Given the description of an element on the screen output the (x, y) to click on. 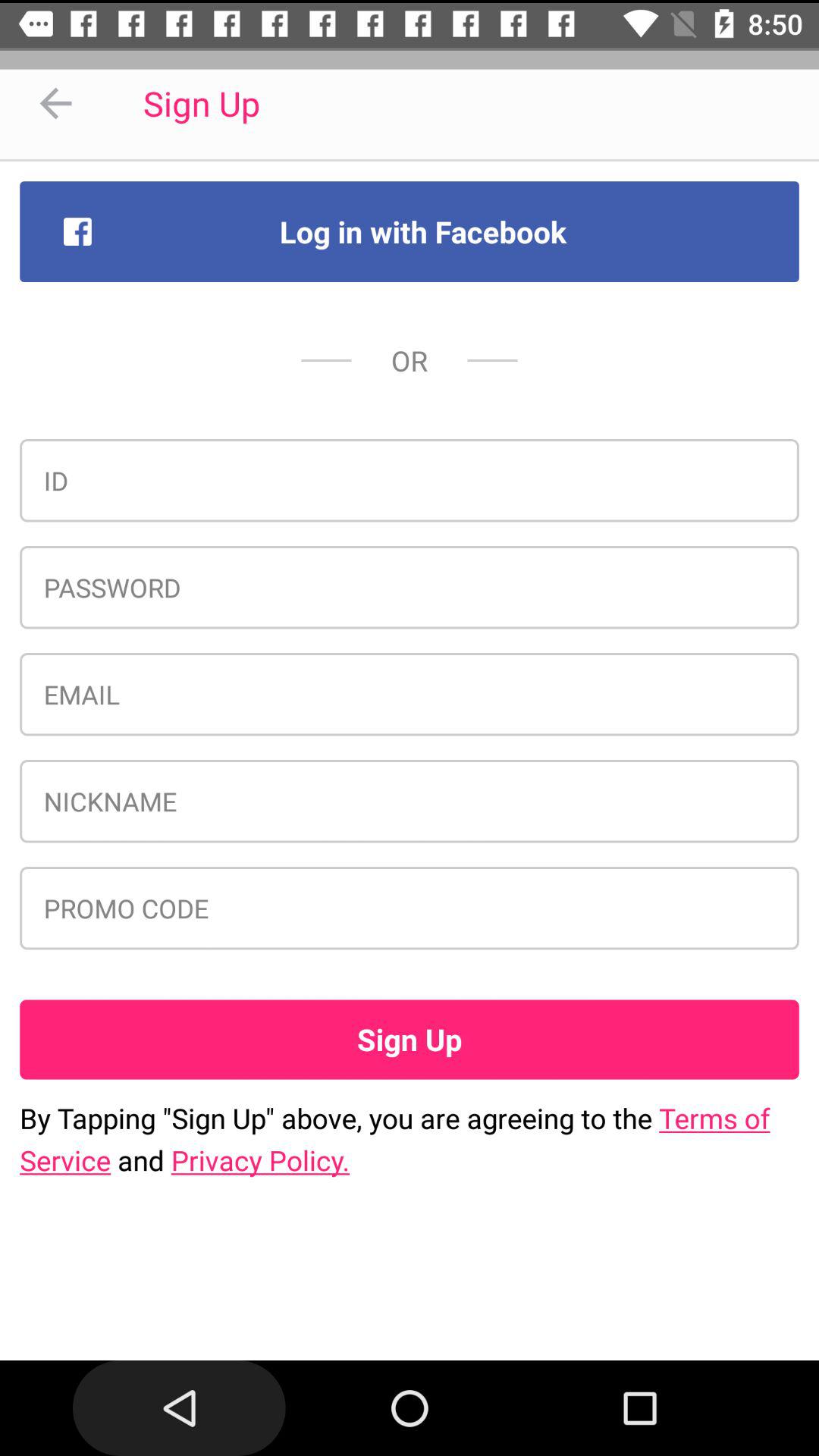
choose by tapping sign item (409, 1139)
